Given the description of an element on the screen output the (x, y) to click on. 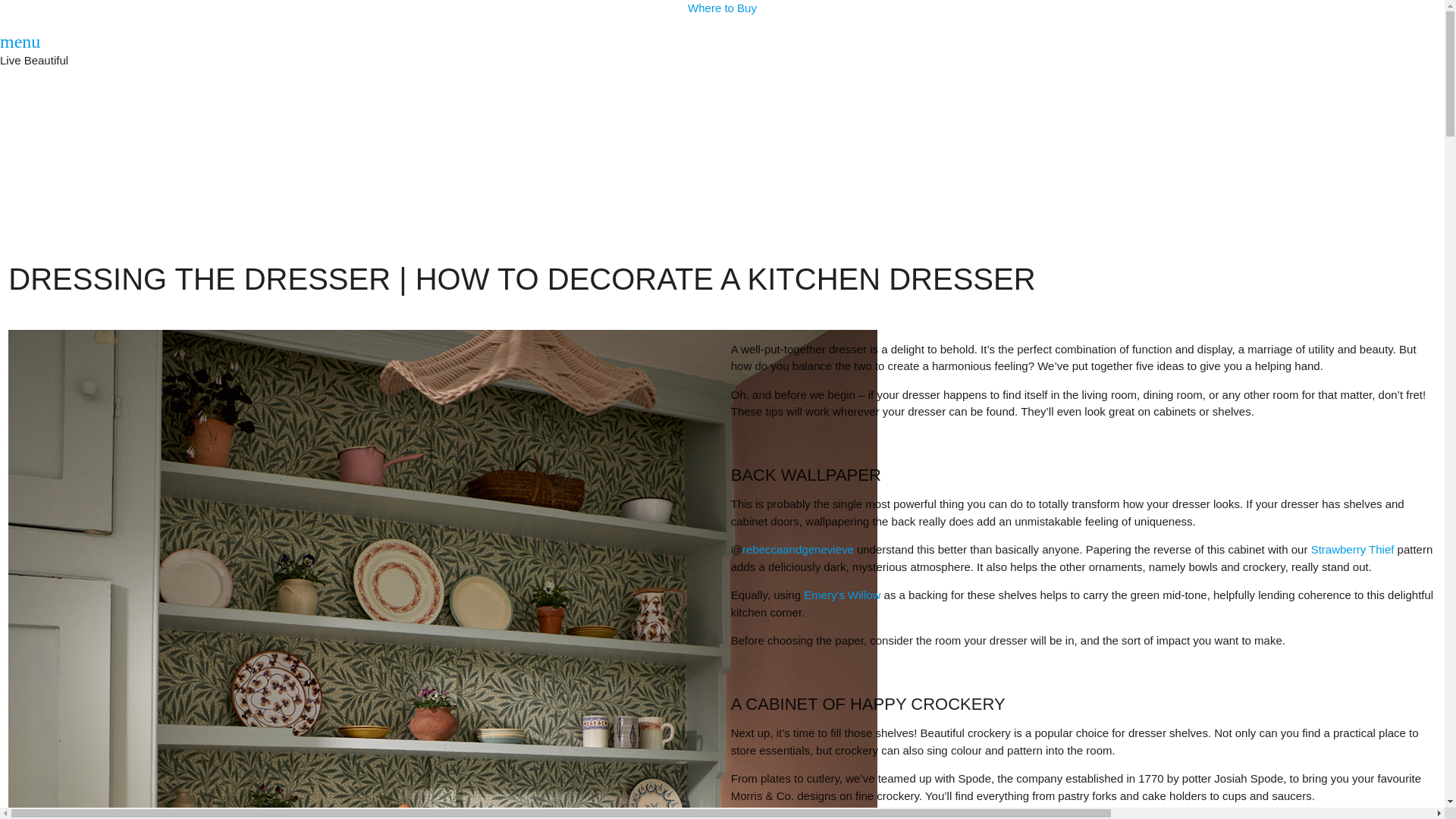
Emerys Willow (841, 594)
Where to Buy (722, 7)
menu (20, 42)
